Given the description of an element on the screen output the (x, y) to click on. 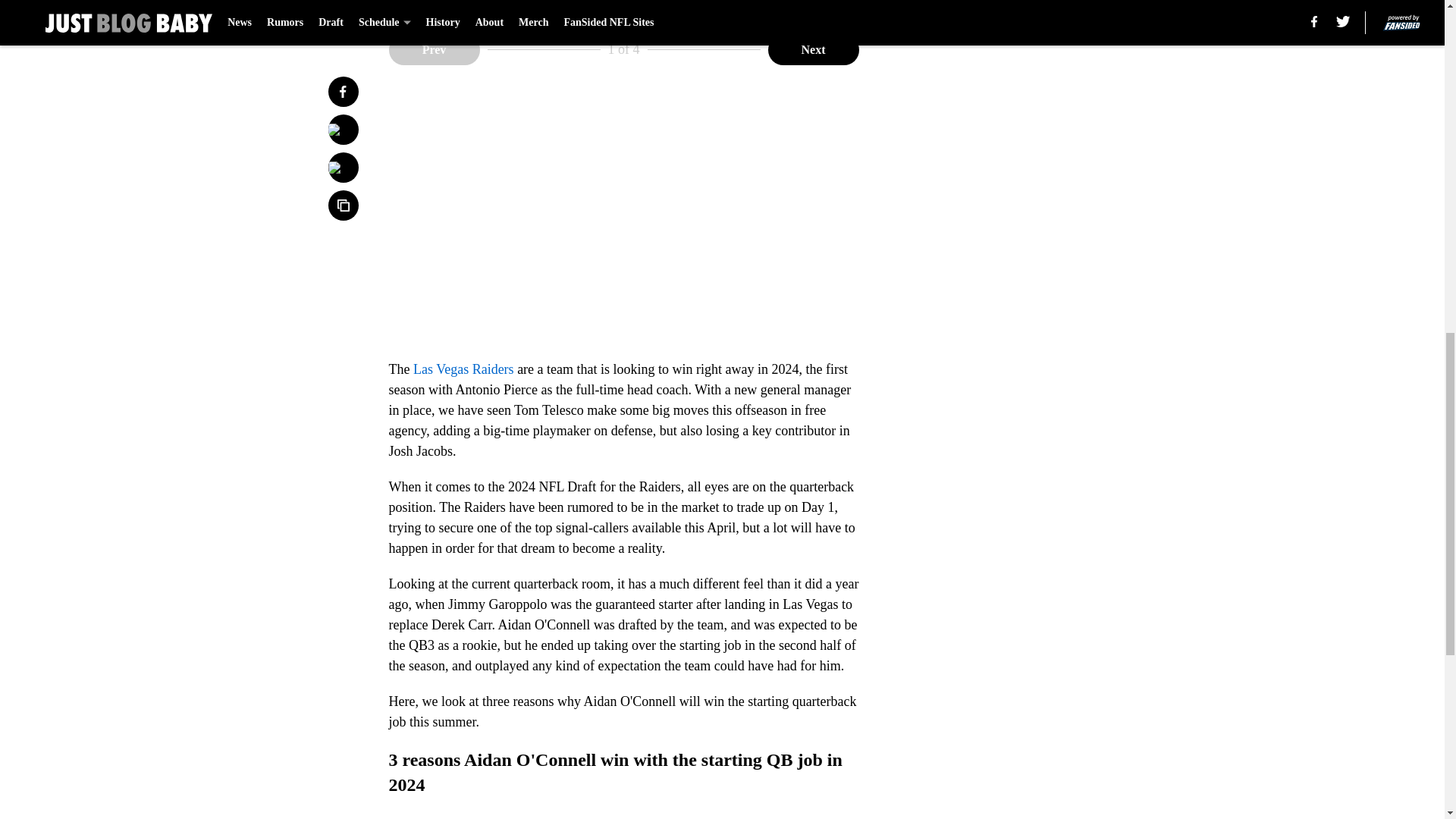
Las Vegas Raiders (463, 368)
Next (813, 50)
Prev (433, 50)
